Given the description of an element on the screen output the (x, y) to click on. 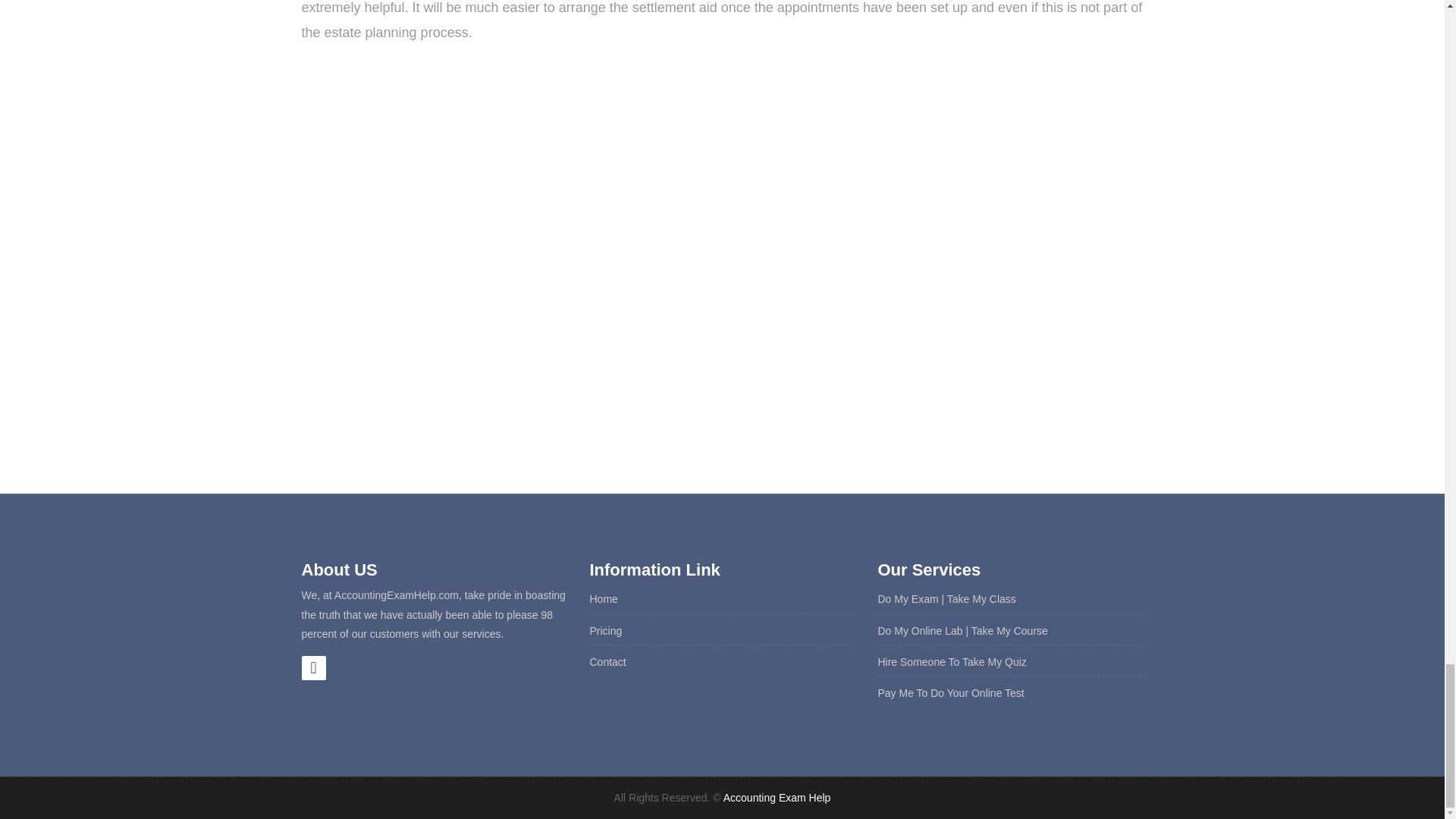
Accounting Exam Help (777, 797)
Home (603, 598)
Pay Me To Do Your Online Test (950, 693)
Contact (607, 662)
Pricing (605, 630)
Do My Exam (907, 598)
Take My Course (1009, 630)
Do My Online Lab (919, 630)
Hire Someone To Take My Quiz (951, 662)
Take My Class (981, 598)
